Given the description of an element on the screen output the (x, y) to click on. 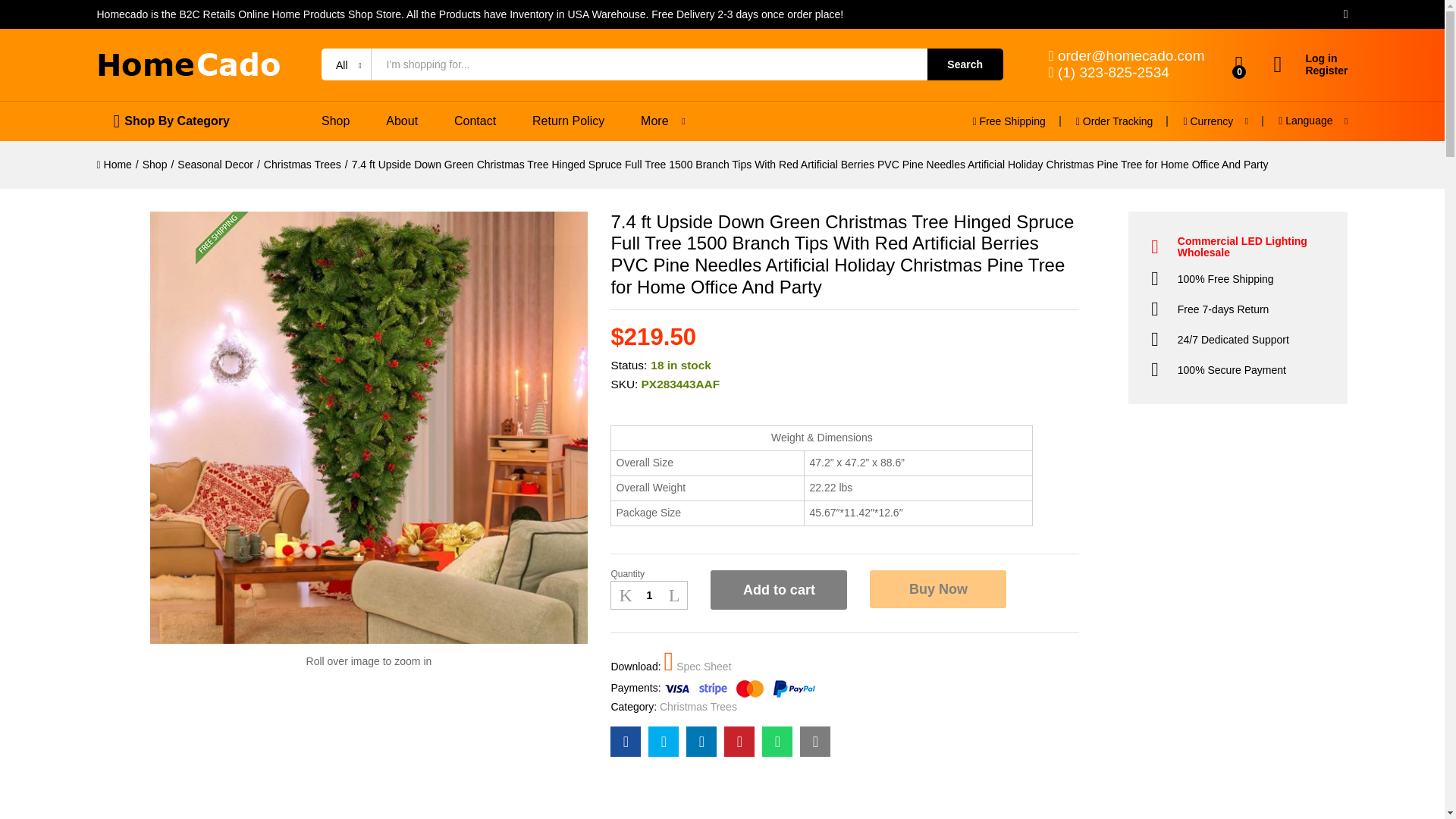
1 (648, 595)
Qty (648, 595)
